Given the description of an element on the screen output the (x, y) to click on. 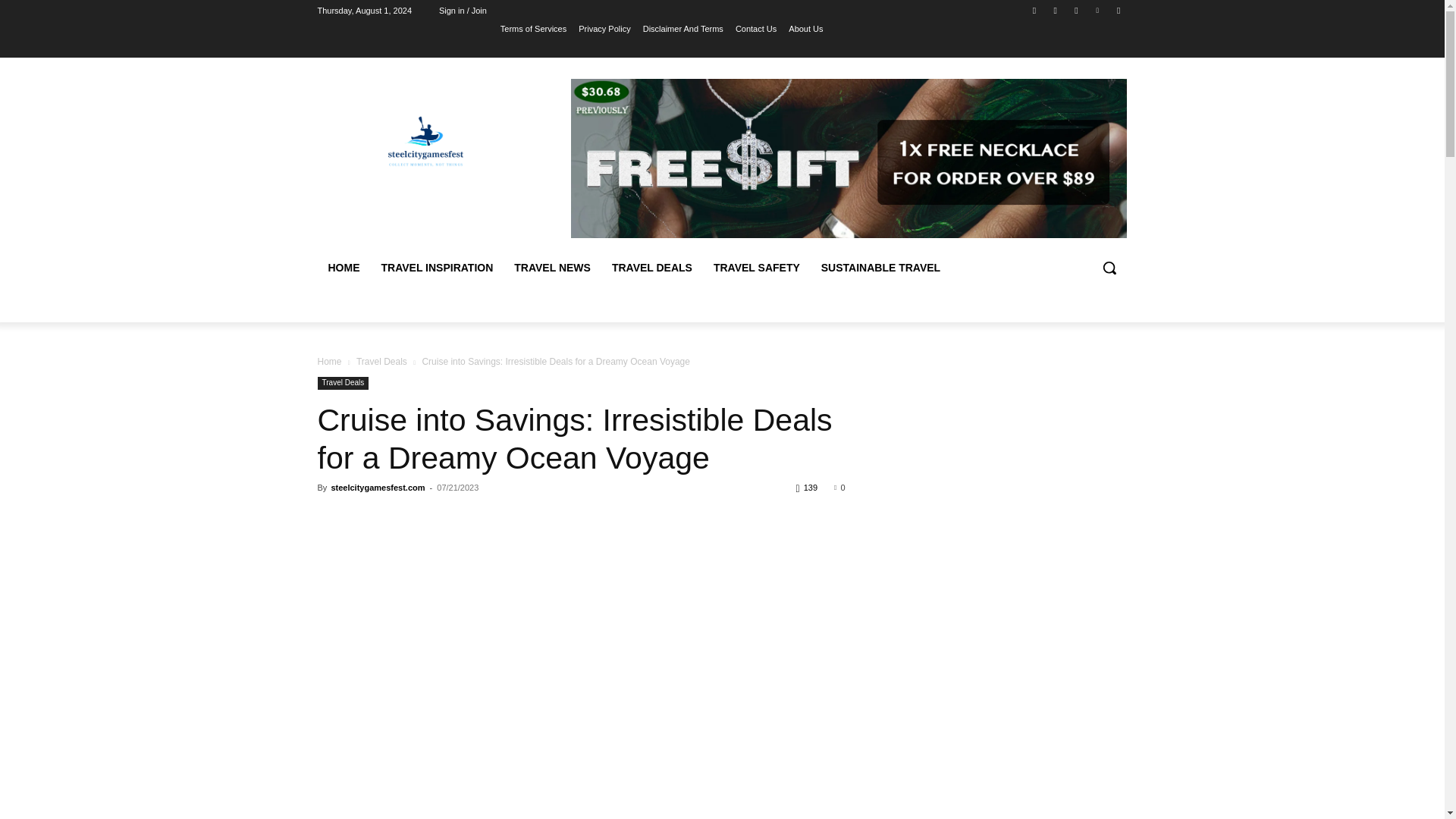
About Us (805, 28)
Home (328, 361)
Vimeo (1097, 9)
Disclaimer And Terms (683, 28)
TRAVEL INSPIRATION (436, 267)
Facebook (1034, 9)
TRAVEL DEALS (652, 267)
Instagram (1055, 9)
Travel Deals (381, 361)
Twitter (1075, 9)
